Given the description of an element on the screen output the (x, y) to click on. 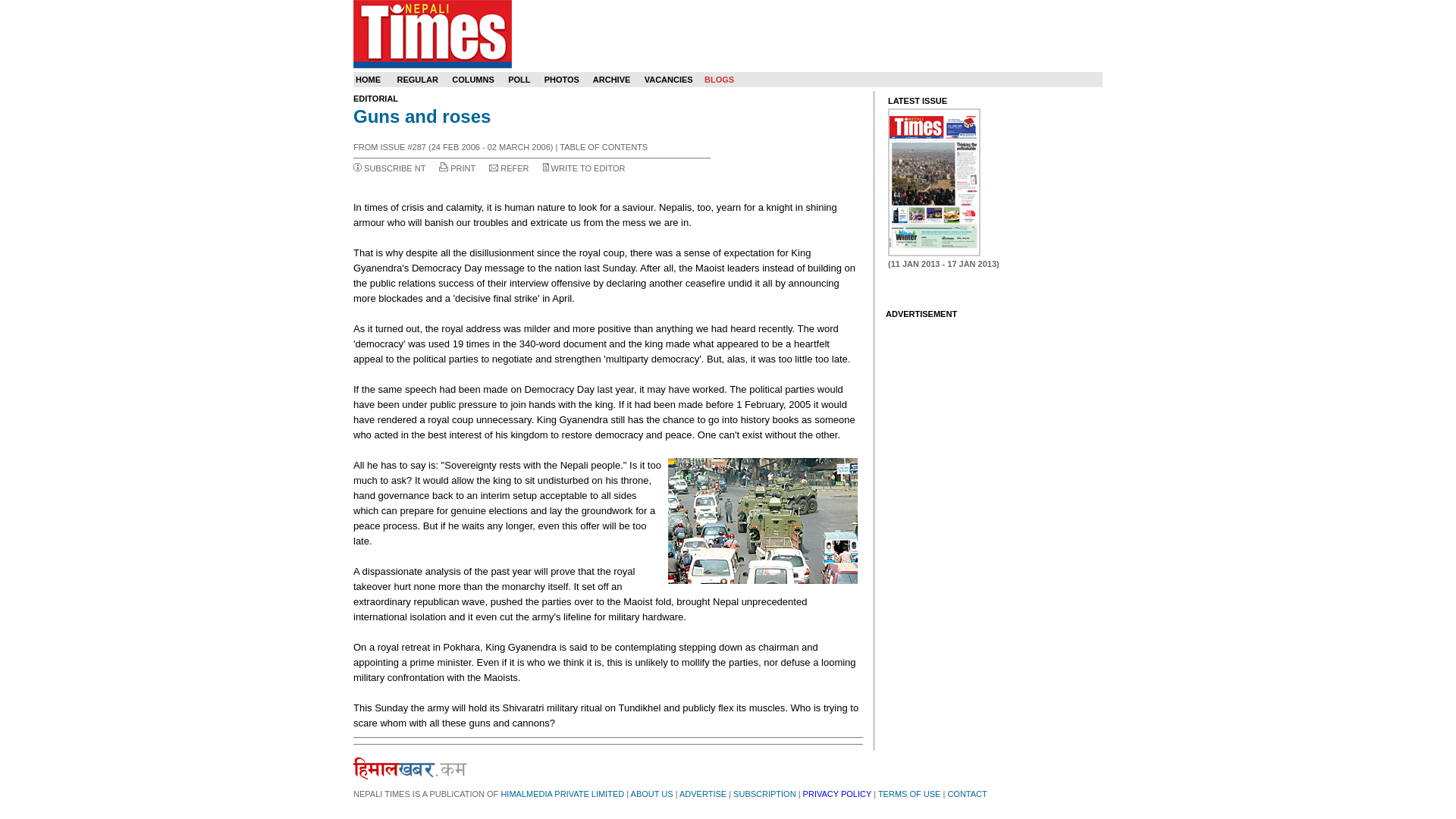
SUBSCRIBE NT (394, 167)
HIMALMEDIA PRIVATE LIMITED (562, 793)
SUBSCRIPTION (764, 793)
PHOTOS (561, 79)
himalkhabar.com (410, 767)
BLOGS (718, 79)
REGULAR (417, 79)
PRINT (463, 167)
REFER (514, 167)
Nepali Times (432, 33)
